Given the description of an element on the screen output the (x, y) to click on. 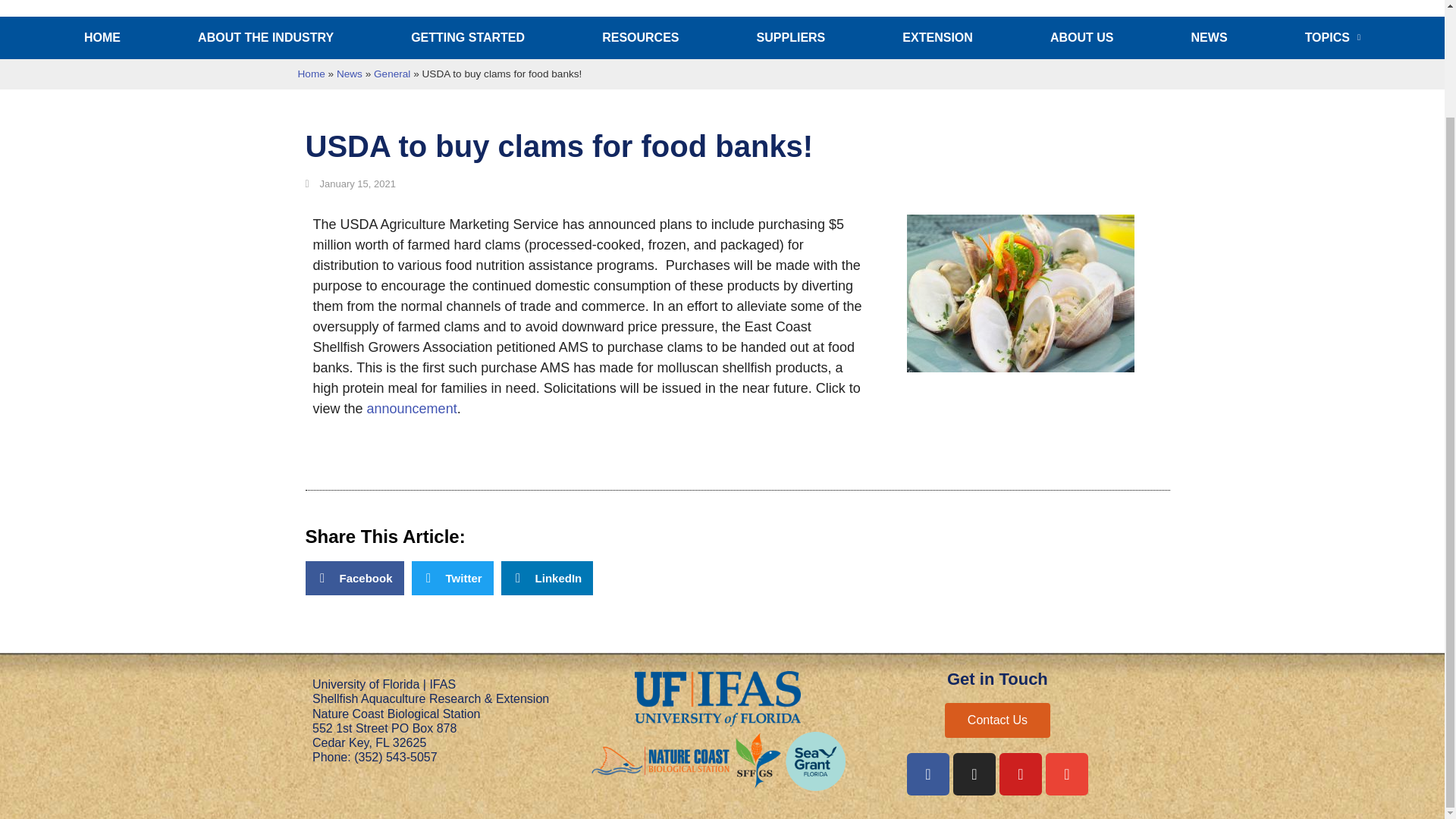
RESOURCES (640, 37)
GETTING STARTED (467, 37)
News (1209, 37)
EXTENSION (937, 37)
Getting Started (467, 37)
NEWS (1209, 37)
ABOUT US (1082, 37)
ABOUT THE INDUSTRY (265, 37)
SUPPLIERS (790, 37)
TOPICS (1332, 37)
HOME (101, 37)
